Given the description of an element on the screen output the (x, y) to click on. 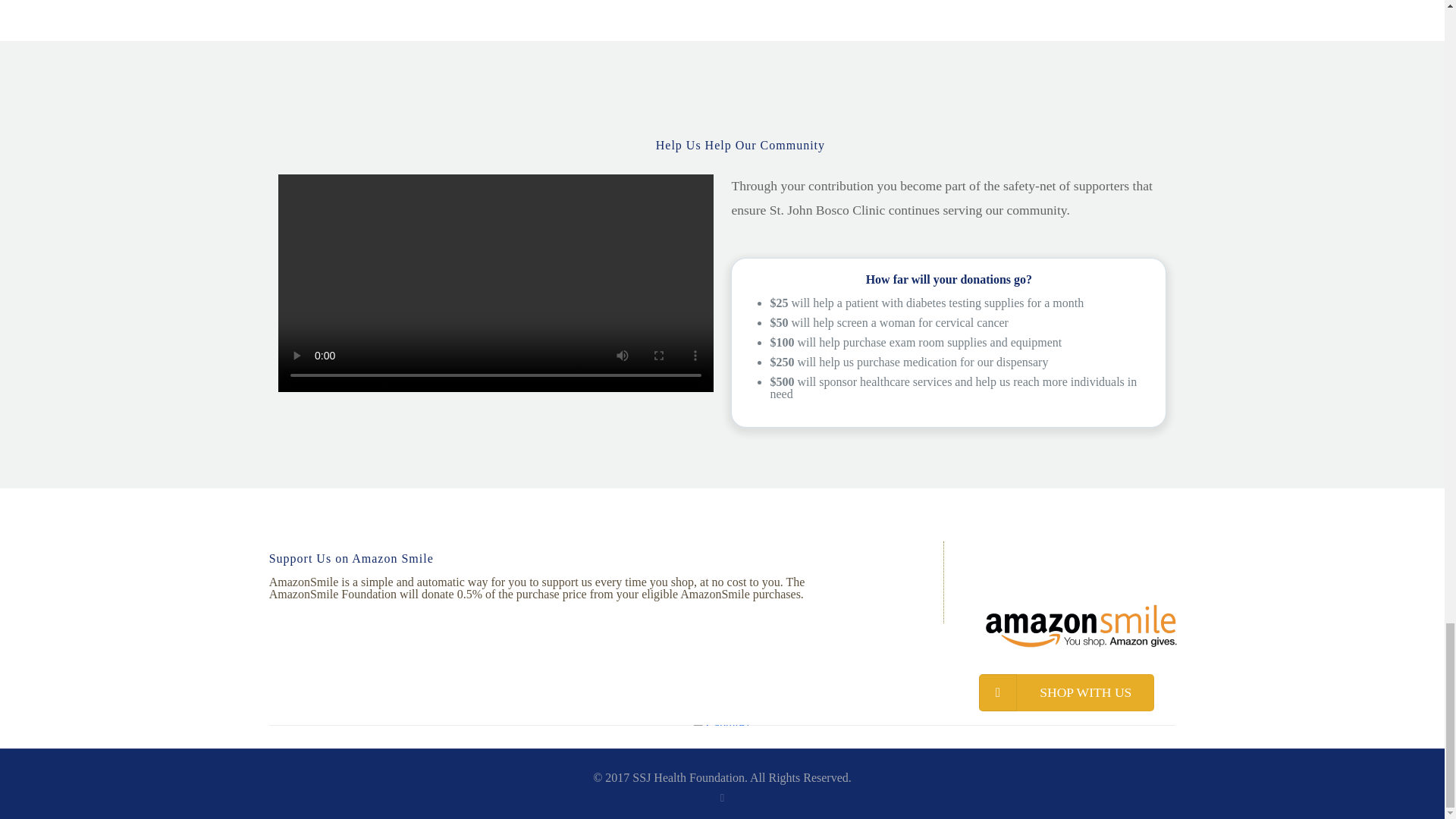
Facebook (722, 797)
SHOP WITH US (1066, 692)
